Given the description of an element on the screen output the (x, y) to click on. 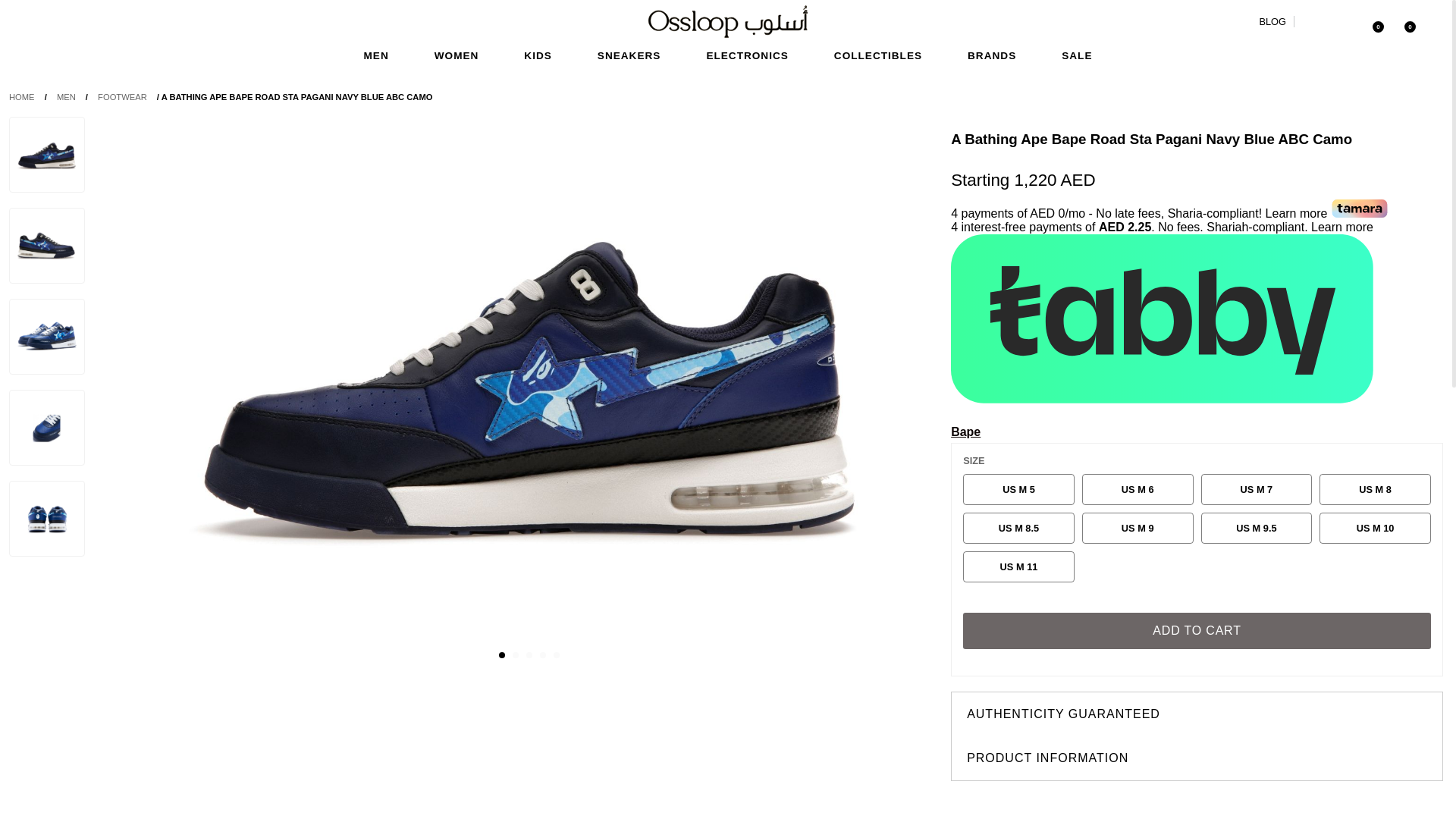
WOMEN (457, 55)
MEN (376, 55)
Share on LinkedIn (1152, 807)
Share via Telegram (1287, 807)
BLOG (1272, 20)
Share on Pinterest (1197, 807)
SNEAKERS (629, 55)
KIDS (536, 55)
Ossloop (1272, 20)
Share via Email (1334, 807)
Share on Facebook (1060, 807)
Share on Twitter (1105, 807)
Share via Whatsapp (1242, 807)
